Given the description of an element on the screen output the (x, y) to click on. 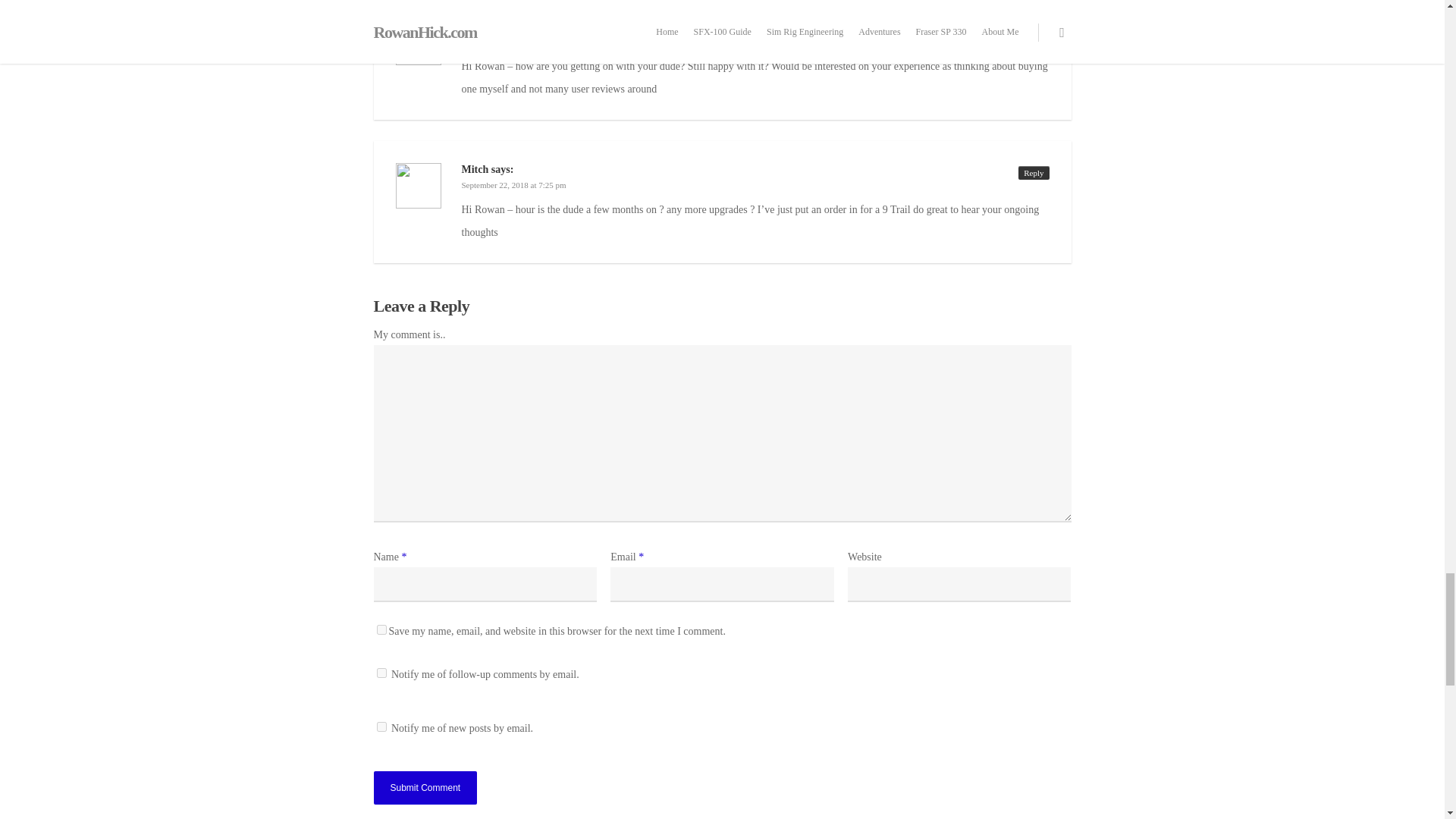
subscribe (380, 673)
subscribe (380, 726)
Submit Comment (424, 787)
September 13, 2018 at 9:18 am (512, 40)
Submit Comment (424, 787)
yes (380, 629)
September 22, 2018 at 7:25 pm (513, 184)
Reply (1032, 29)
Reply (1032, 172)
